Given the description of an element on the screen output the (x, y) to click on. 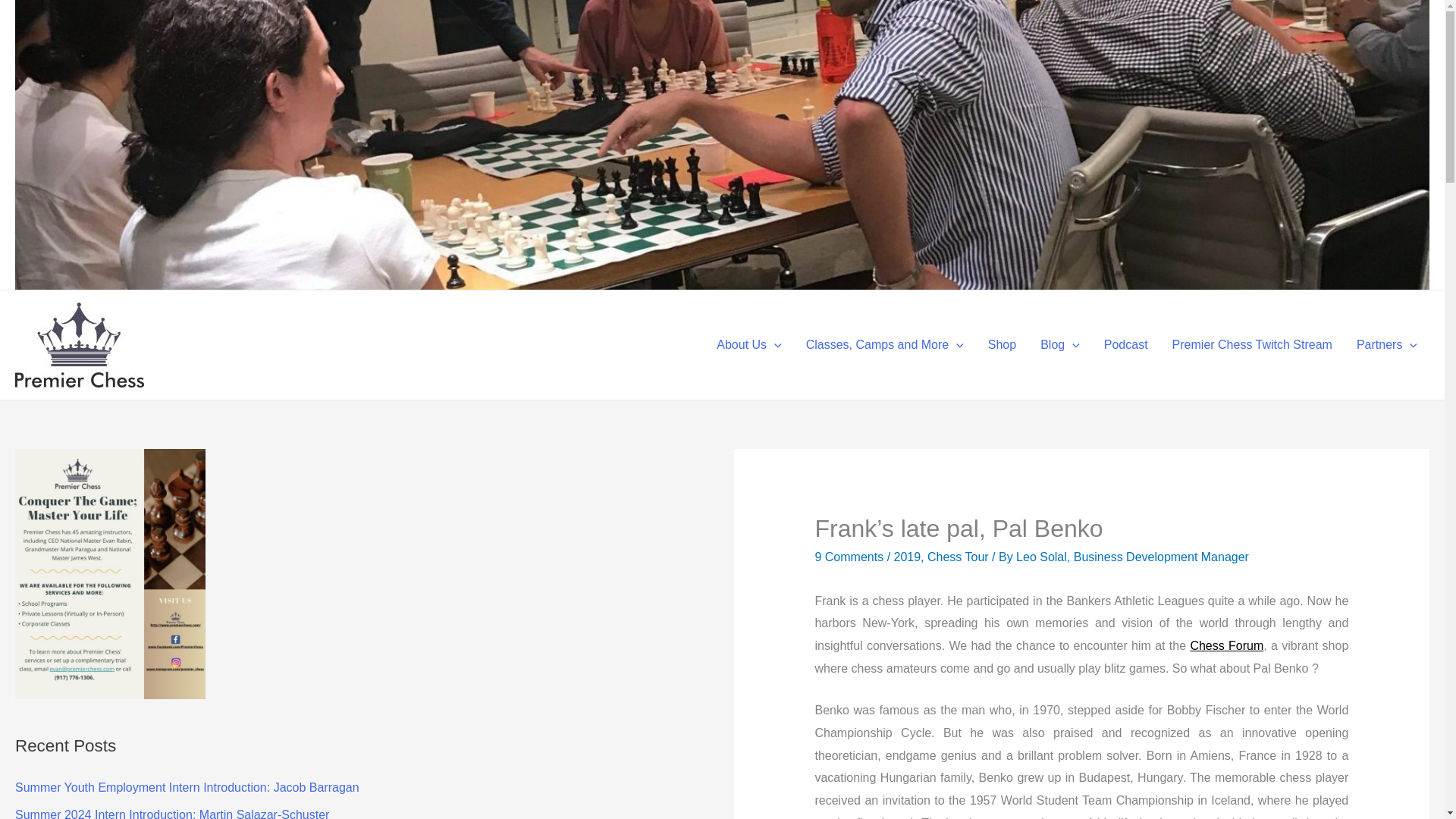
Podcast (1126, 344)
View all posts by Leo Solal, Business Development Manager (1132, 556)
Partners (1386, 344)
Classes, Camps and More (884, 344)
About Us (748, 344)
Blog (1059, 344)
Premier Chess Twitch Stream (1251, 344)
Shop (1001, 344)
